Given the description of an element on the screen output the (x, y) to click on. 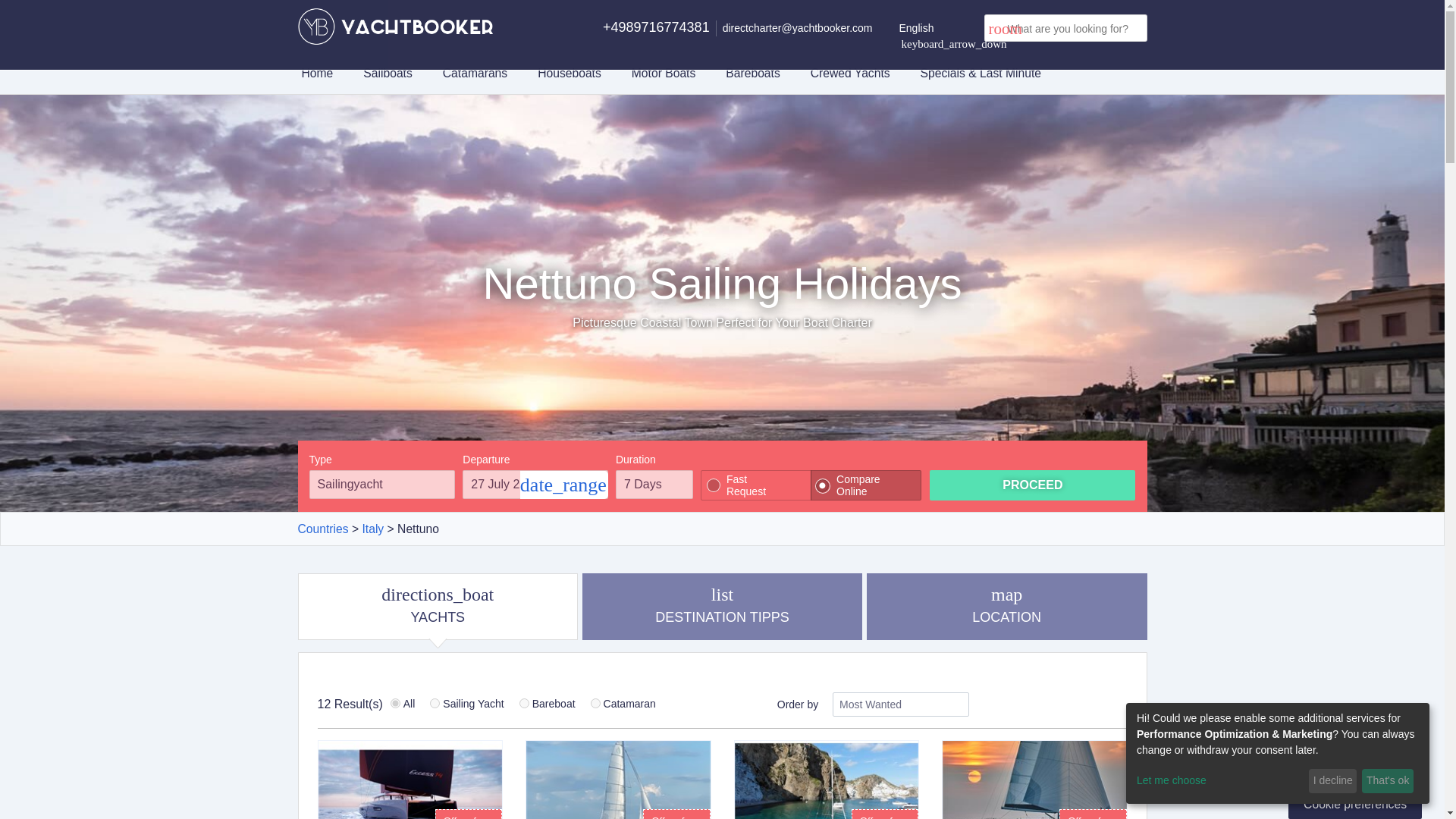
-1 (395, 703)
Catamarans (475, 72)
Sailboats (386, 72)
logo on Nettuno page (395, 26)
Houseboats (568, 72)
10 (524, 703)
Motor Boats (663, 72)
2 (722, 606)
Bareboats (595, 703)
Crewed Yachts (1007, 606)
Proceed (752, 72)
Home (849, 72)
Countries (1032, 485)
